Given the description of an element on the screen output the (x, y) to click on. 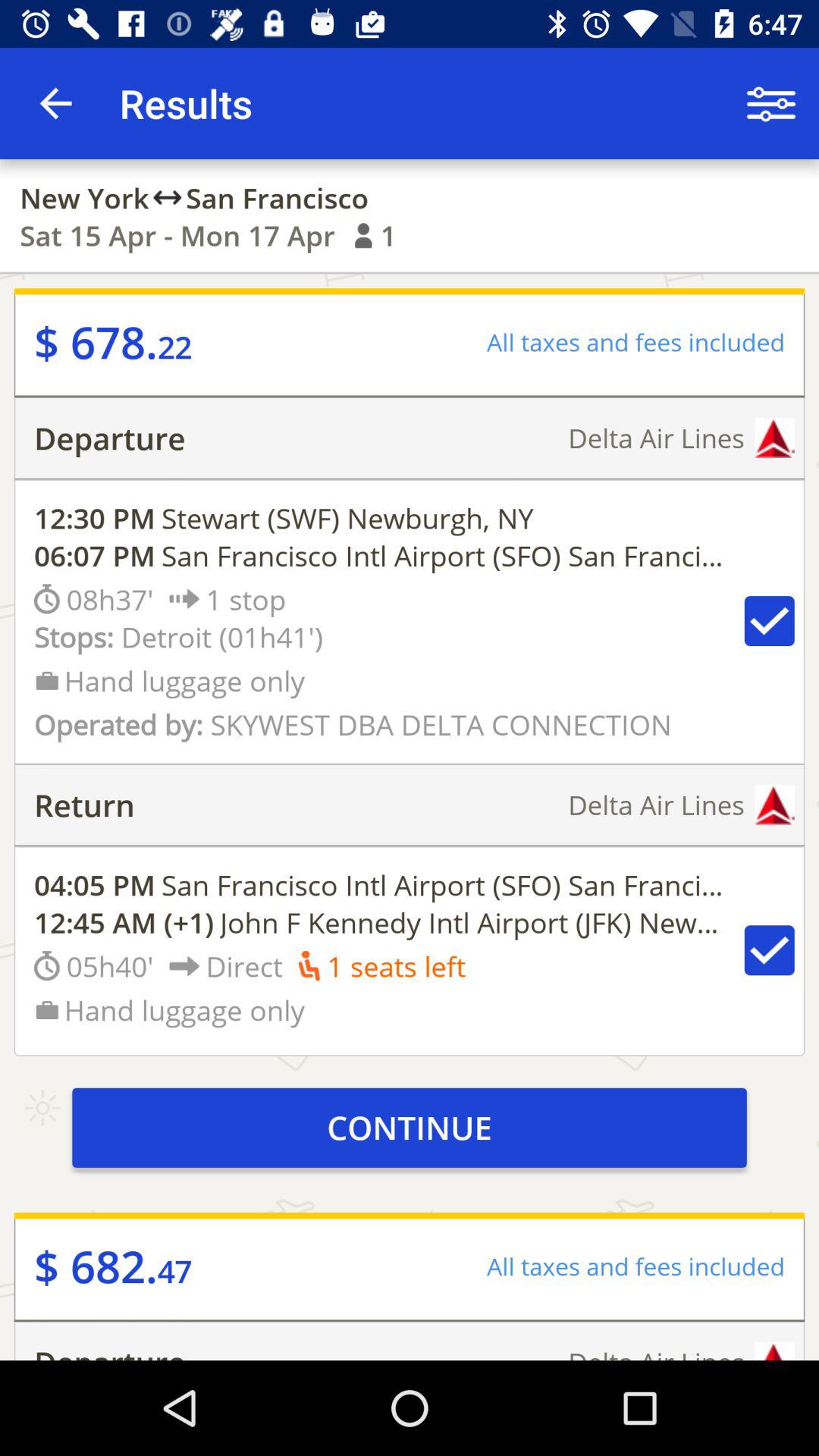
swipe until continue (409, 1127)
